Given the description of an element on the screen output the (x, y) to click on. 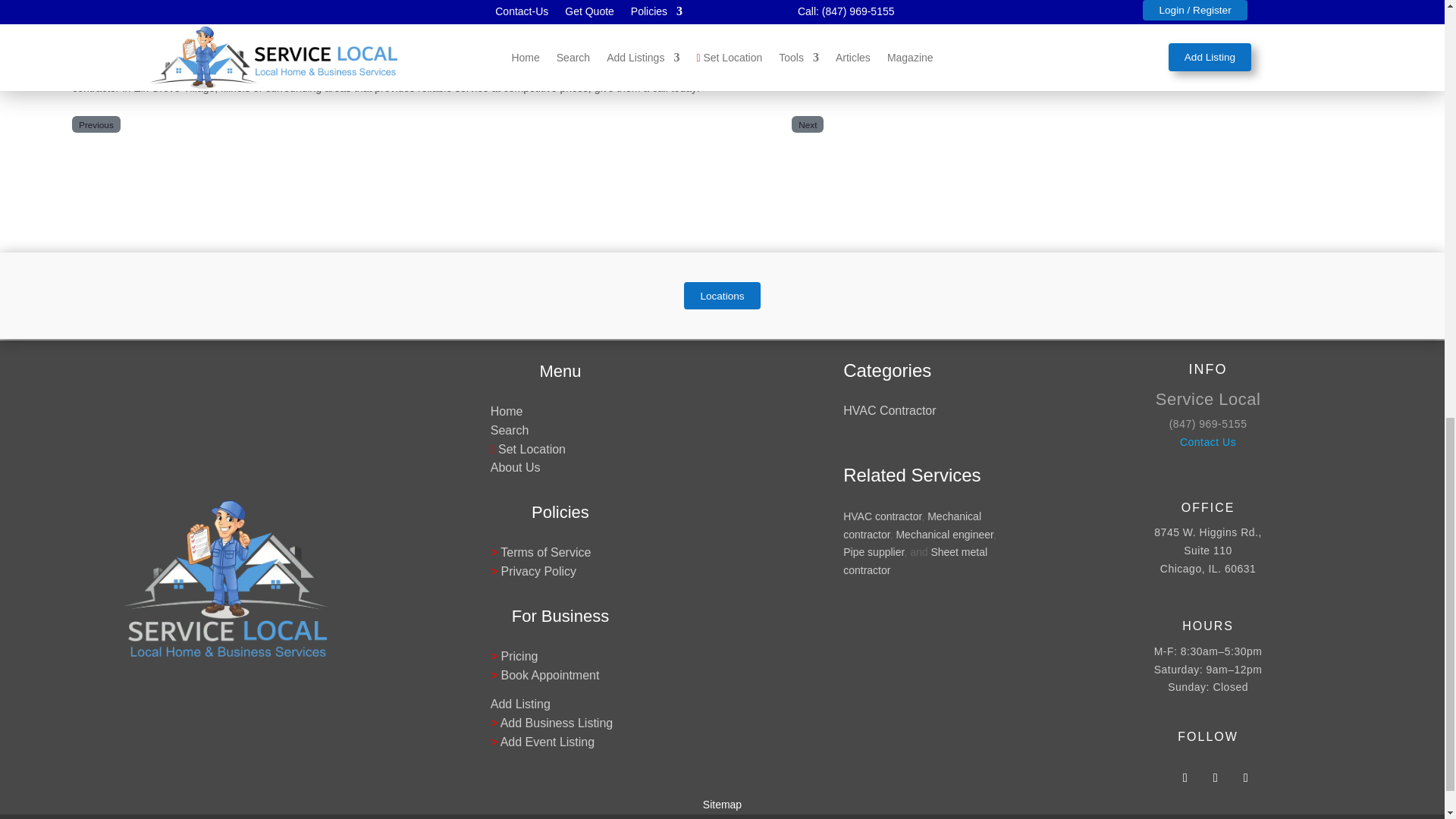
Follow on Youtube (1245, 777)
Follow on X (1215, 777)
Footer Logo (225, 578)
Follow on Facebook (1184, 777)
